Given the description of an element on the screen output the (x, y) to click on. 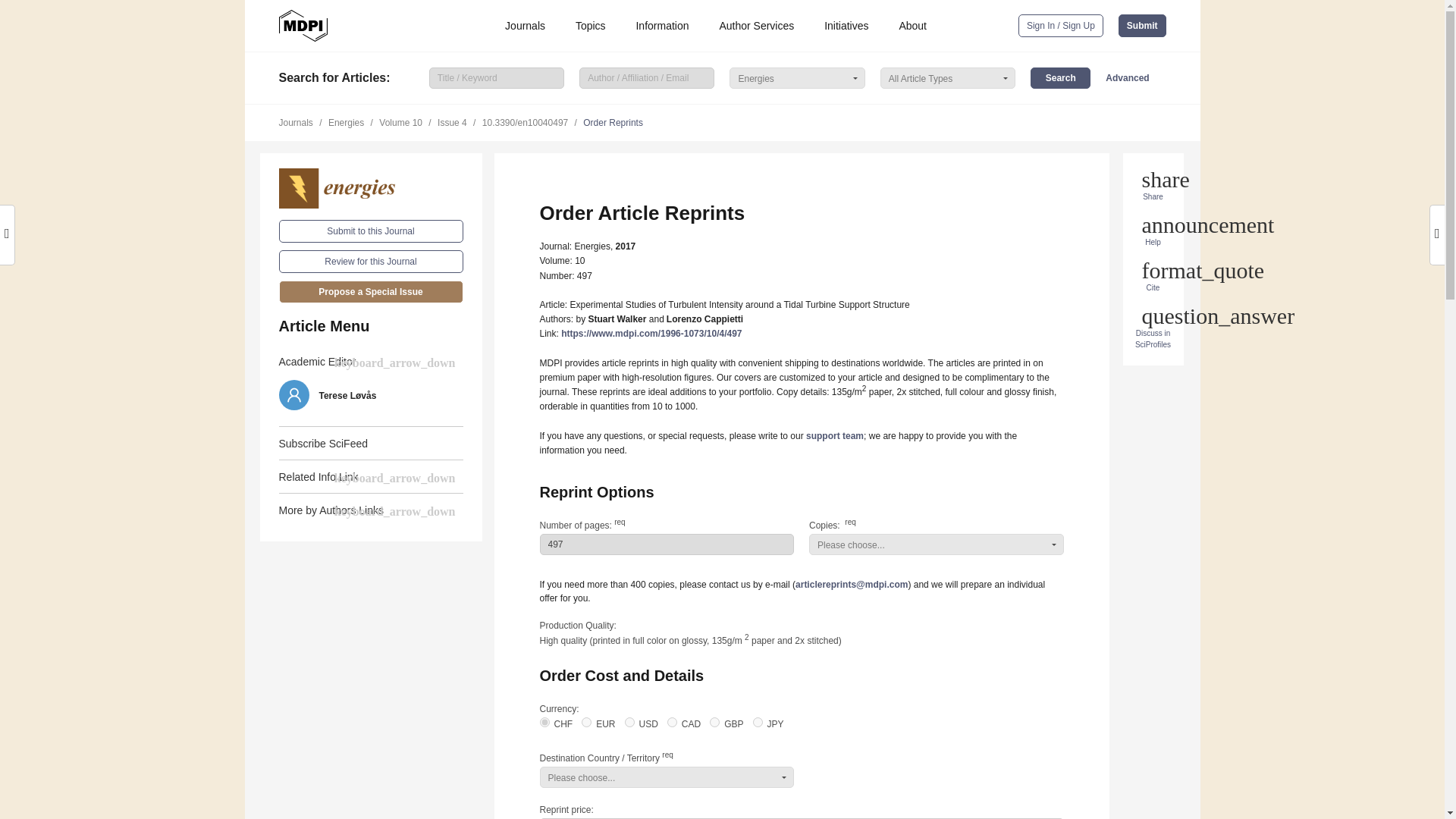
EUR (585, 722)
Energies (371, 188)
CAD (671, 722)
GBP (714, 722)
497 (667, 544)
JPY (757, 722)
USD (629, 722)
CHF (545, 722)
MDPI Open Access Journals (303, 25)
Search (1060, 77)
